Given the description of an element on the screen output the (x, y) to click on. 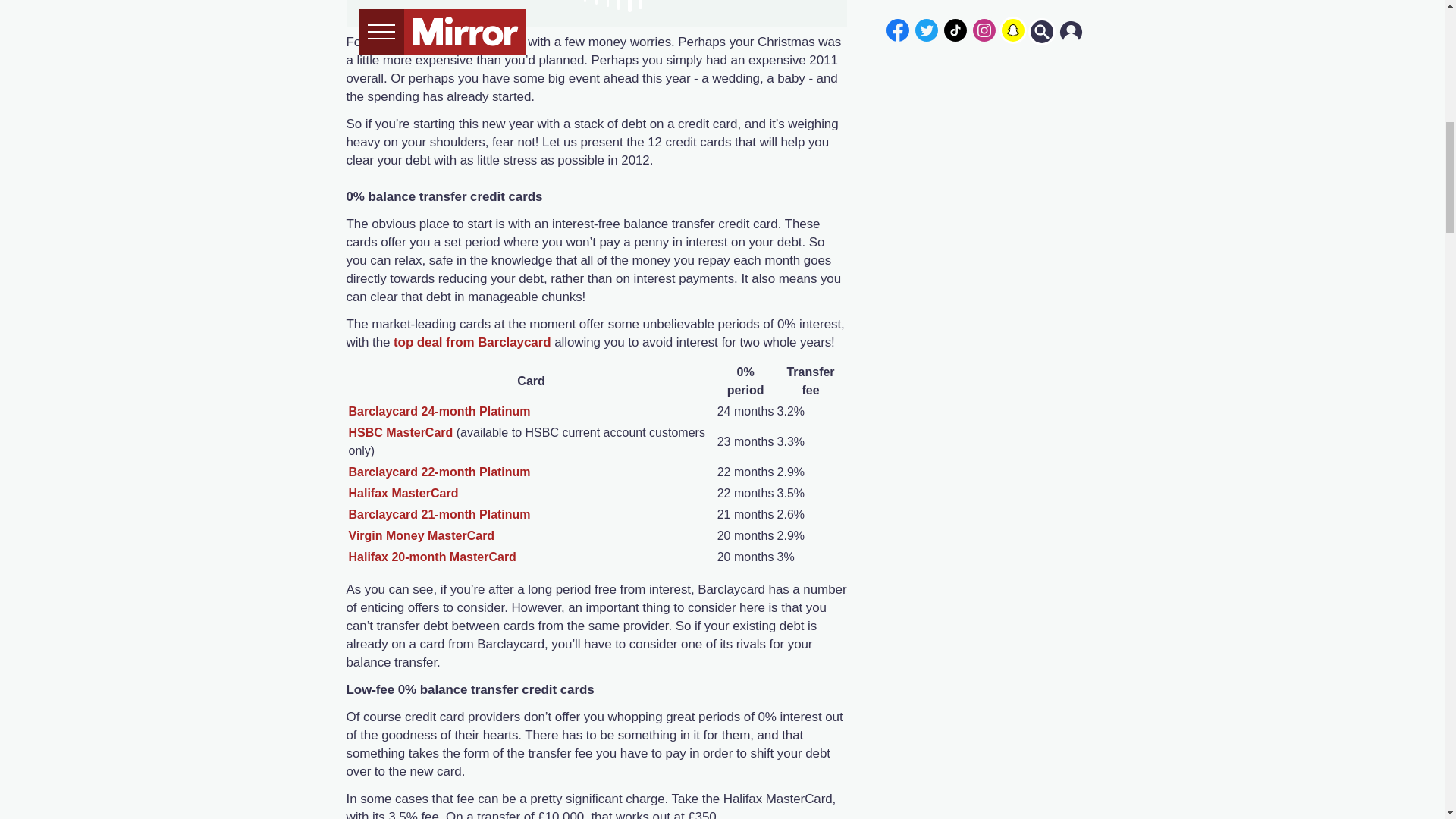
Barclaycard 21-month Platinum (440, 513)
top deal from Barclaycard (472, 341)
Barclaycard 22-month Platinum (440, 472)
Virgin Money MasterCard (422, 535)
HSBC MasterCard (400, 431)
Halifax MasterCard (403, 492)
Halifax 20-month MasterCard (432, 556)
Barclaycard 24-month Platinum (440, 410)
